Given the description of an element on the screen output the (x, y) to click on. 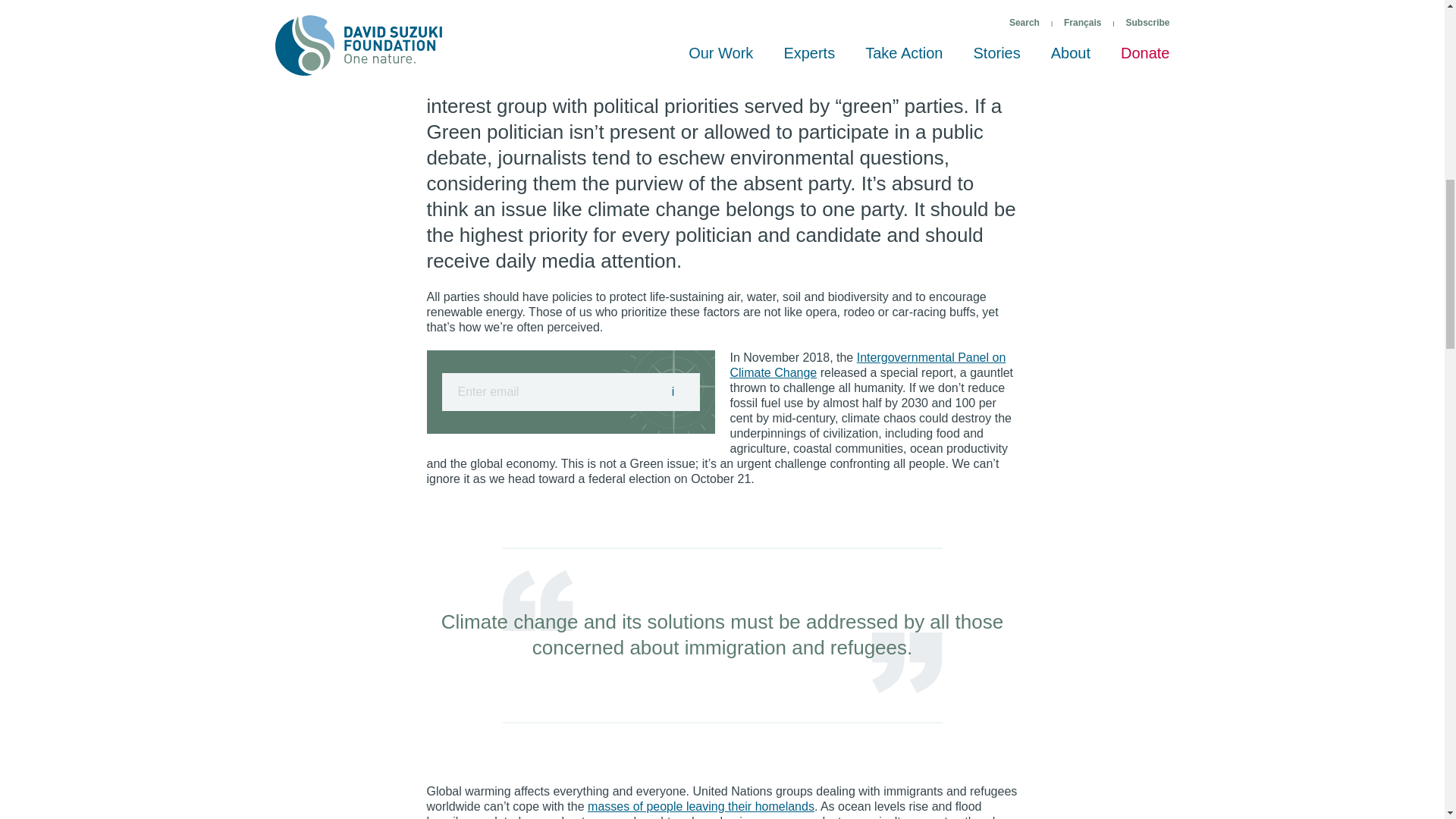
Photo by:  Markus Spiske temporausch.com via Pexels (515, 7)
